Given the description of an element on the screen output the (x, y) to click on. 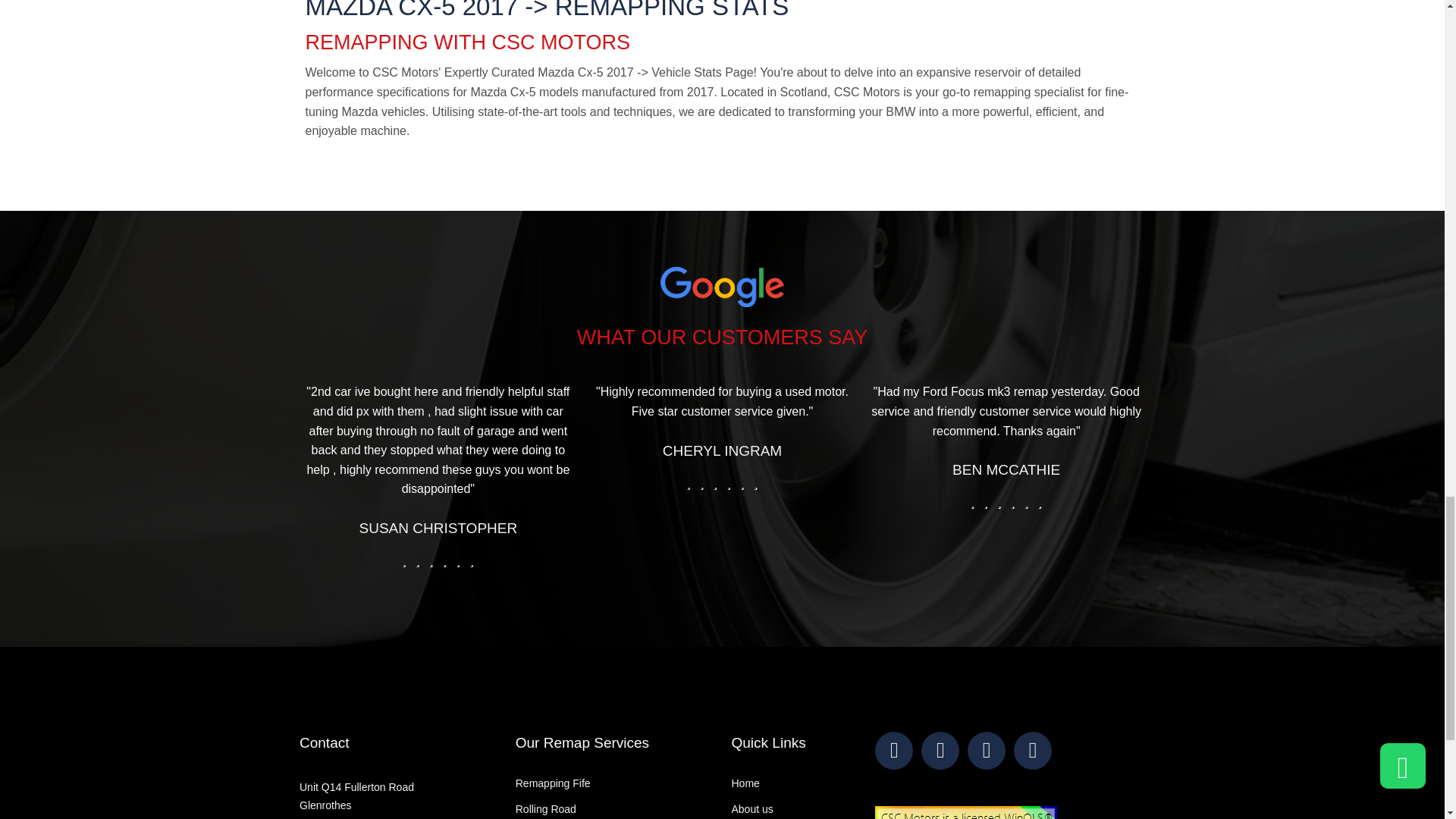
Remapping Fife (356, 800)
CHERYL INGRAM (553, 783)
BEN MCCATHIE (721, 450)
SUSAN CHRISTOPHER (1005, 469)
